Given the description of an element on the screen output the (x, y) to click on. 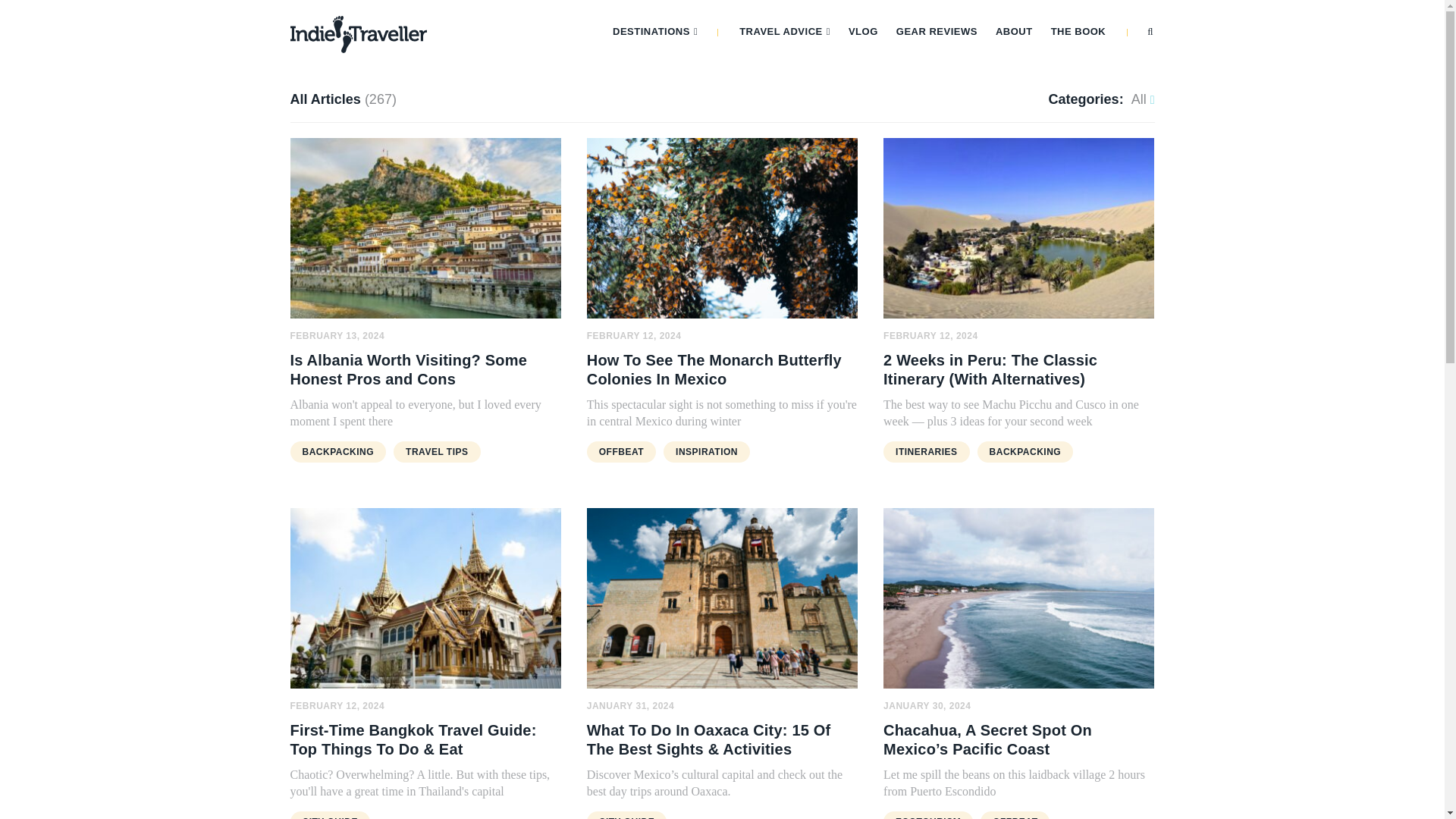
DESTINATIONS (654, 30)
Indie Traveller (357, 34)
